Given the description of an element on the screen output the (x, y) to click on. 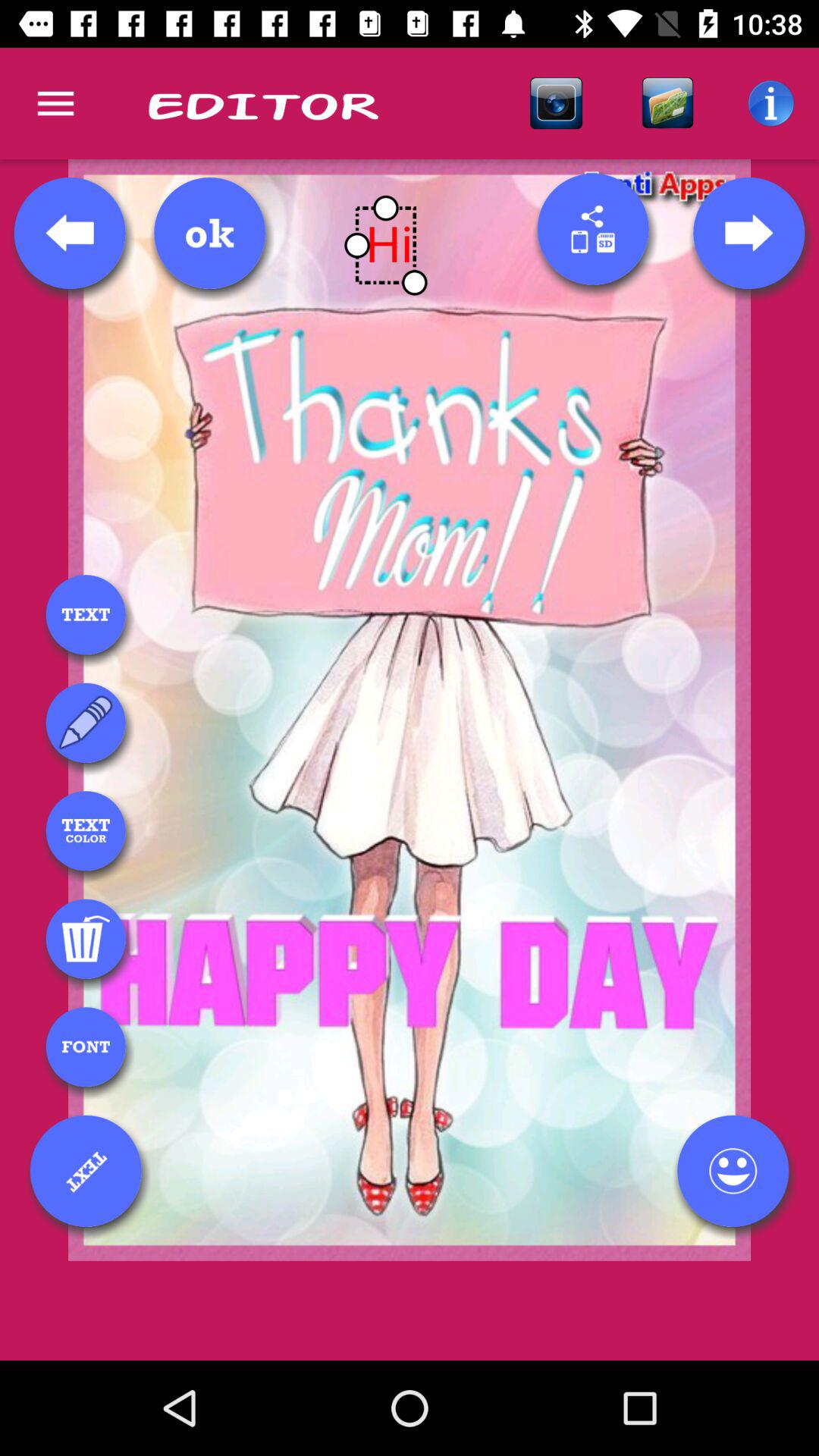
write characters (85, 722)
